Given the description of an element on the screen output the (x, y) to click on. 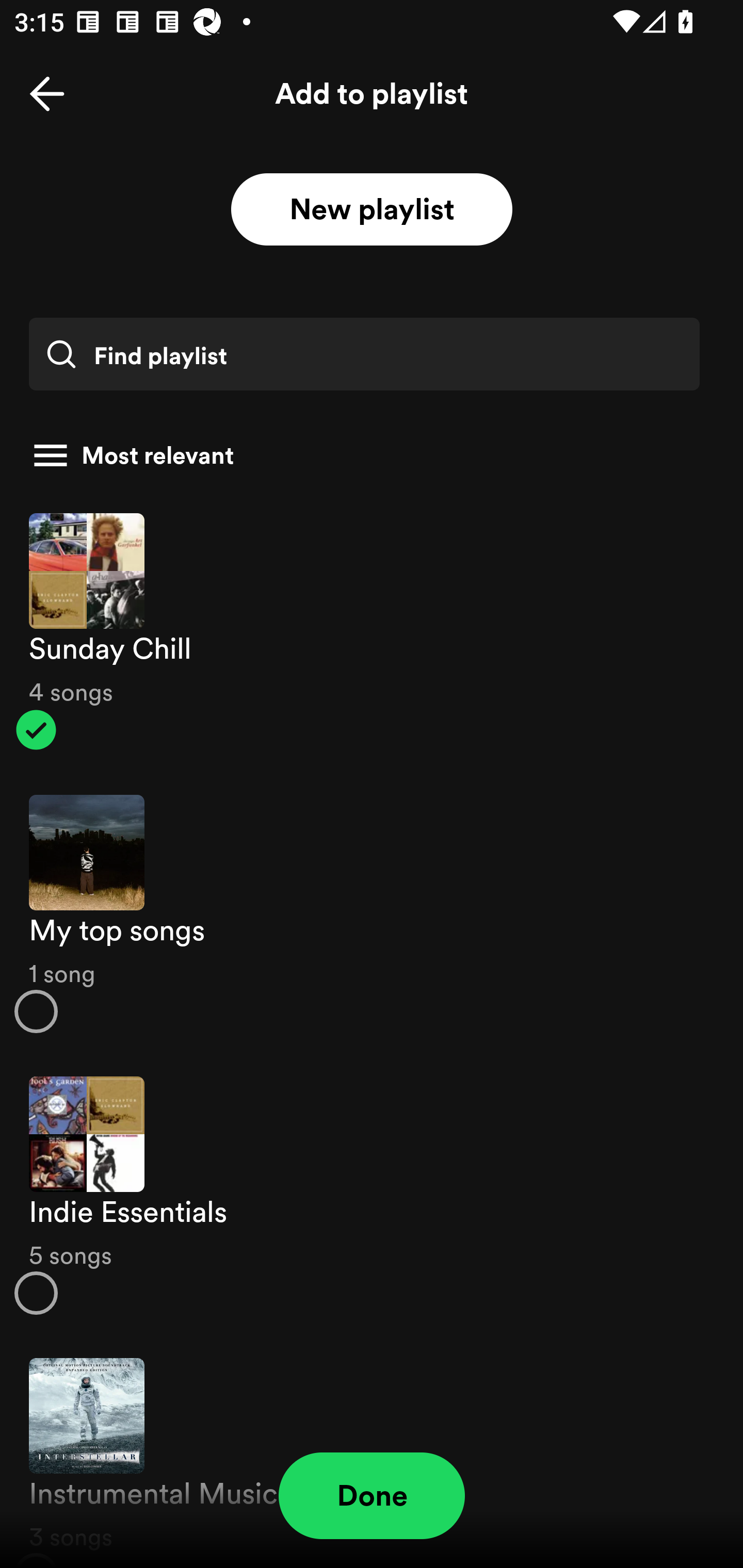
Back (46, 93)
New playlist (371, 210)
Find playlist (363, 354)
Most relevant (363, 455)
Sunday Chill 4 songs (371, 631)
My top songs 1 song (371, 914)
Indie Essentials 5 songs (371, 1195)
Instrumental Music 3 songs (371, 1451)
Done (371, 1495)
